Given the description of an element on the screen output the (x, y) to click on. 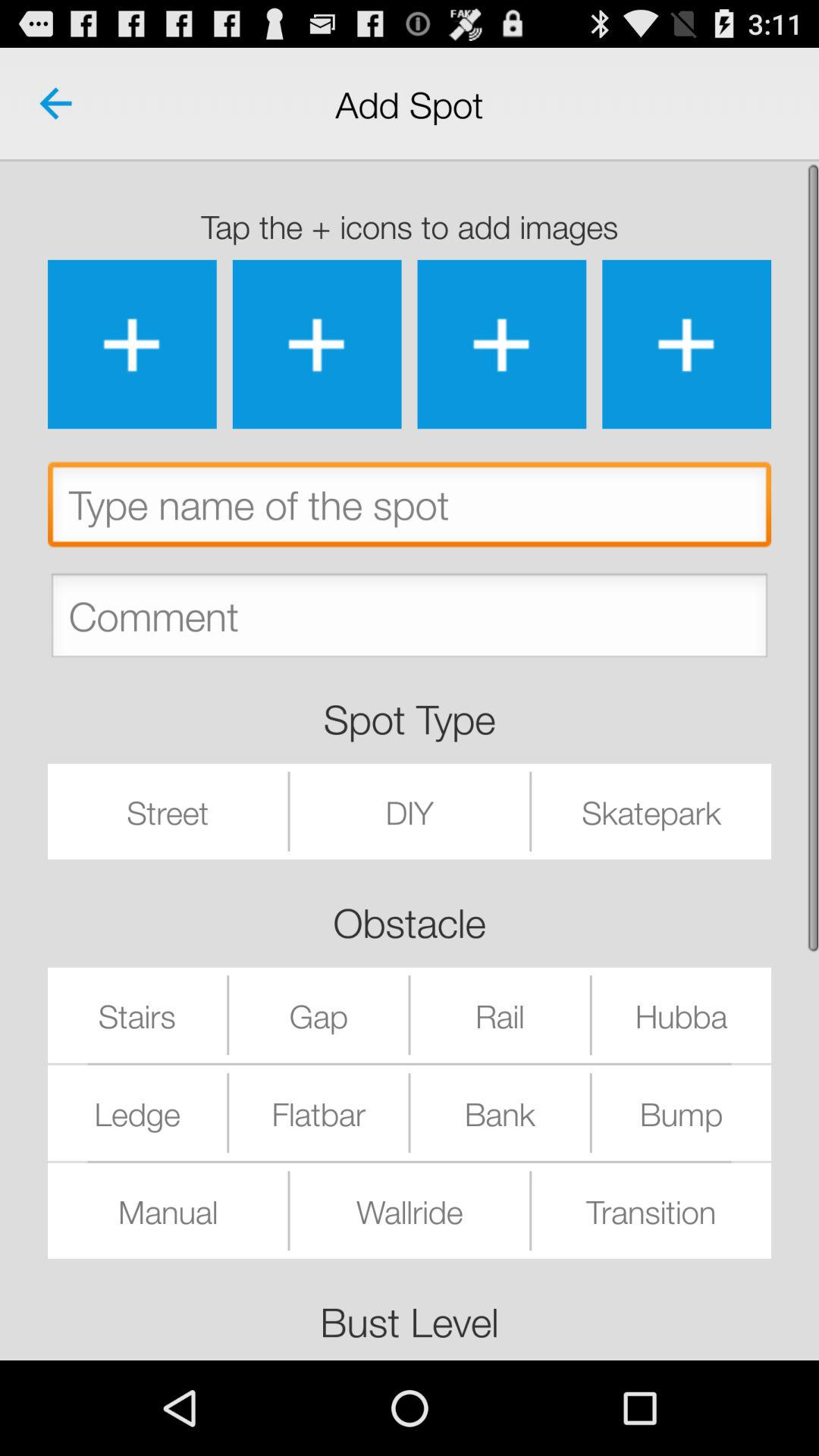
add image (316, 343)
